Given the description of an element on the screen output the (x, y) to click on. 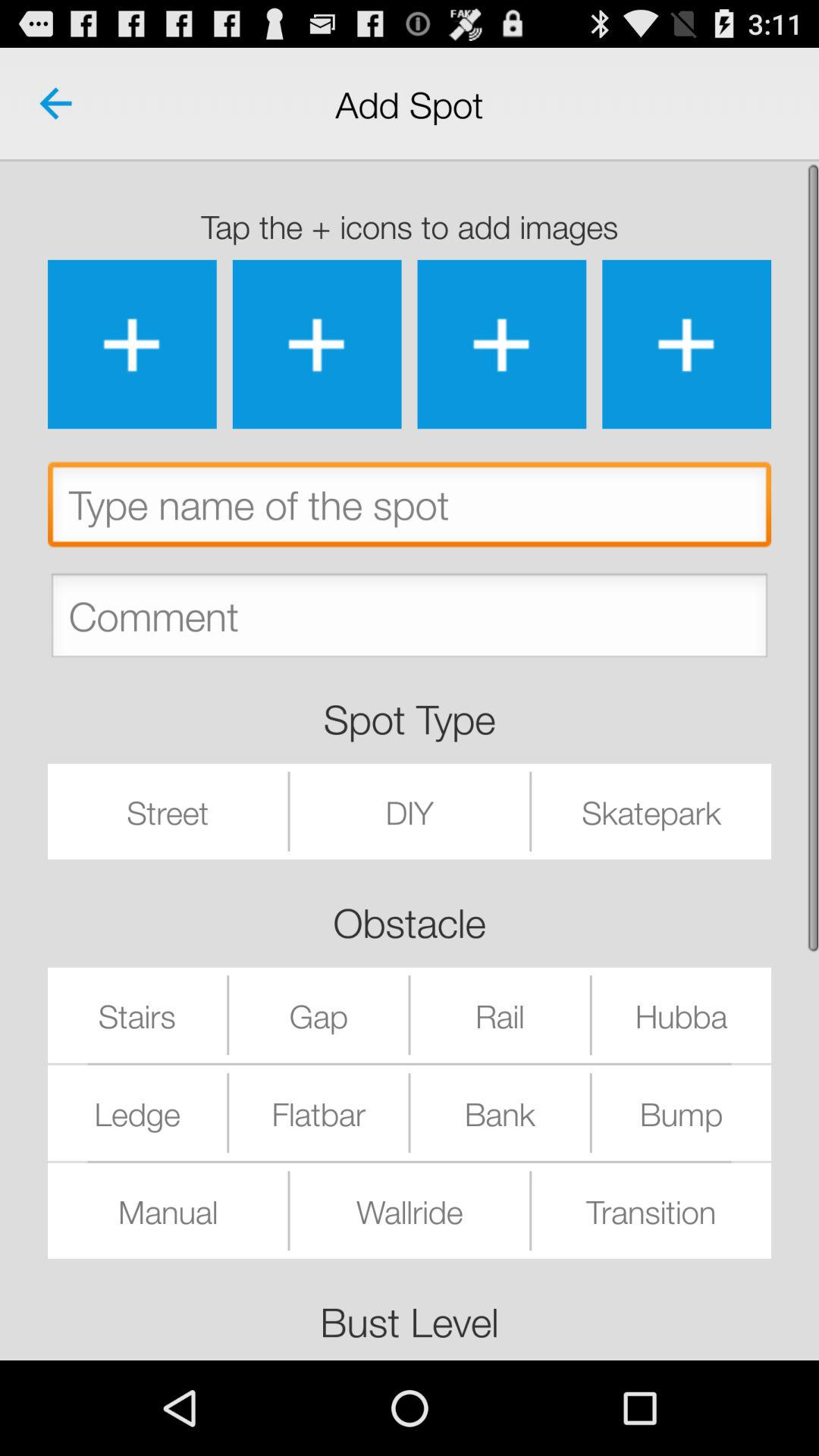
add image (316, 343)
